Given the description of an element on the screen output the (x, y) to click on. 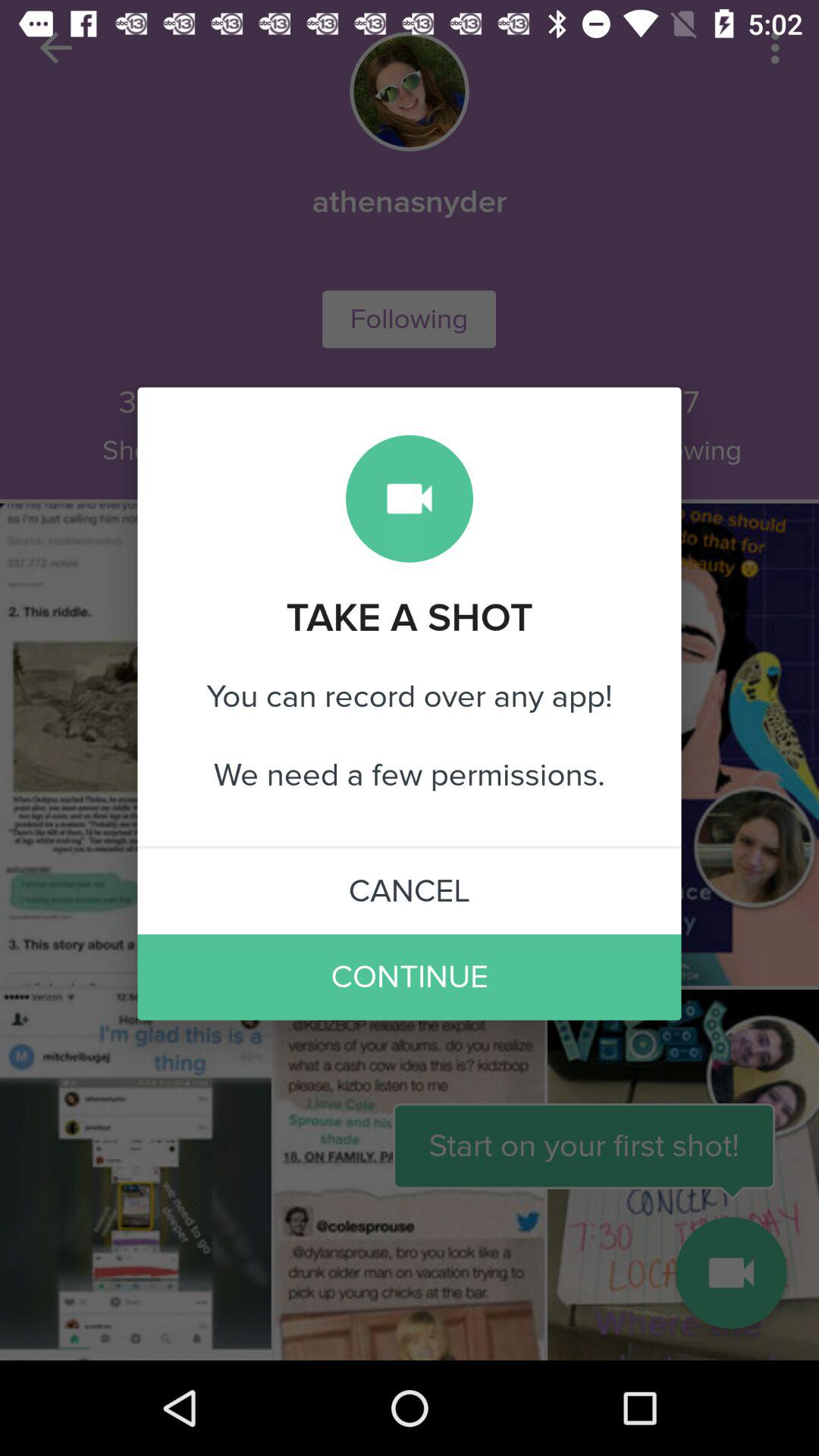
select the continue icon (409, 977)
